Given the description of an element on the screen output the (x, y) to click on. 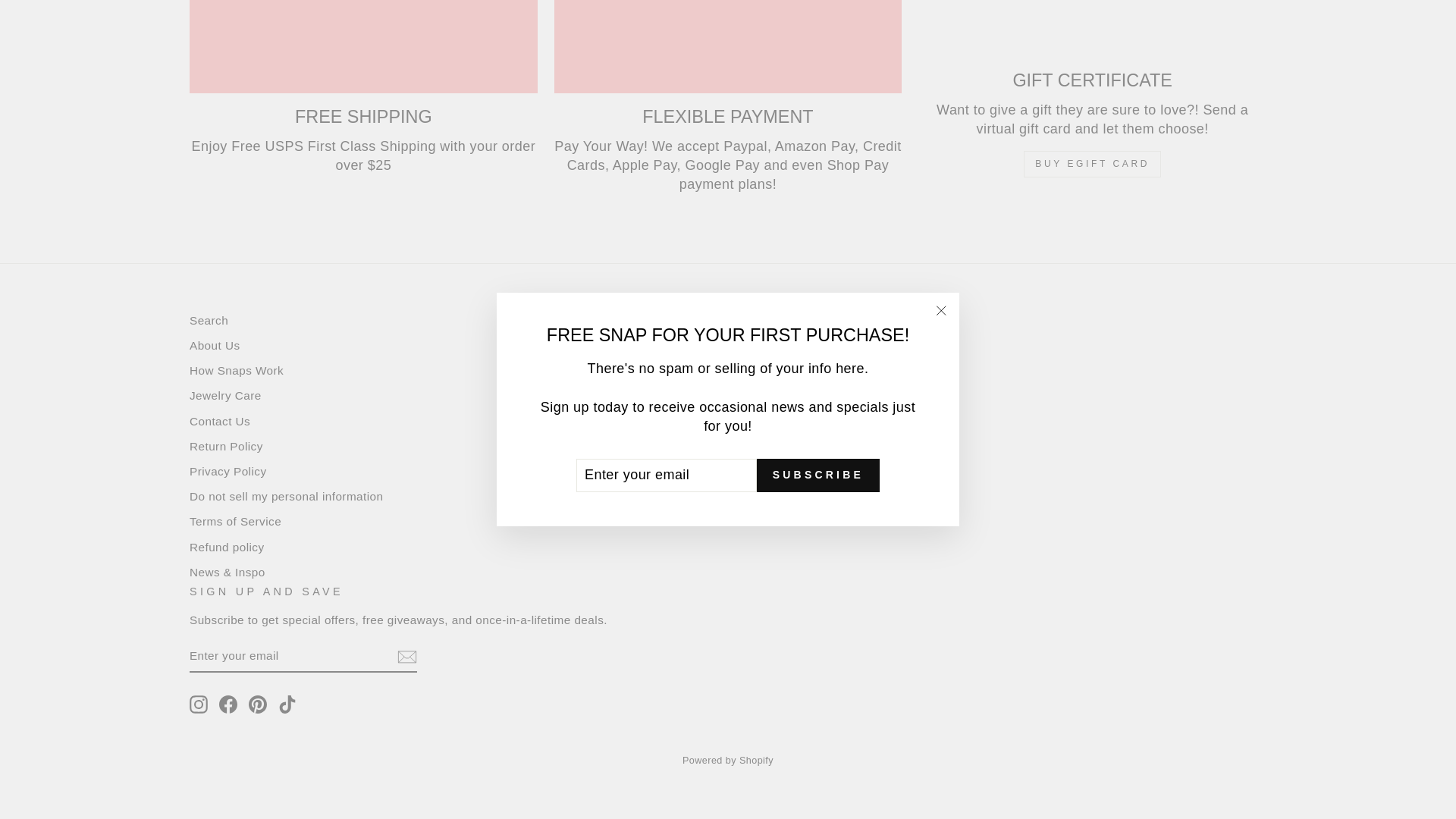
icon-email (406, 656)
instagram (198, 704)
Lilleau Fashion Boutique on Instagram (198, 704)
